Given the description of an element on the screen output the (x, y) to click on. 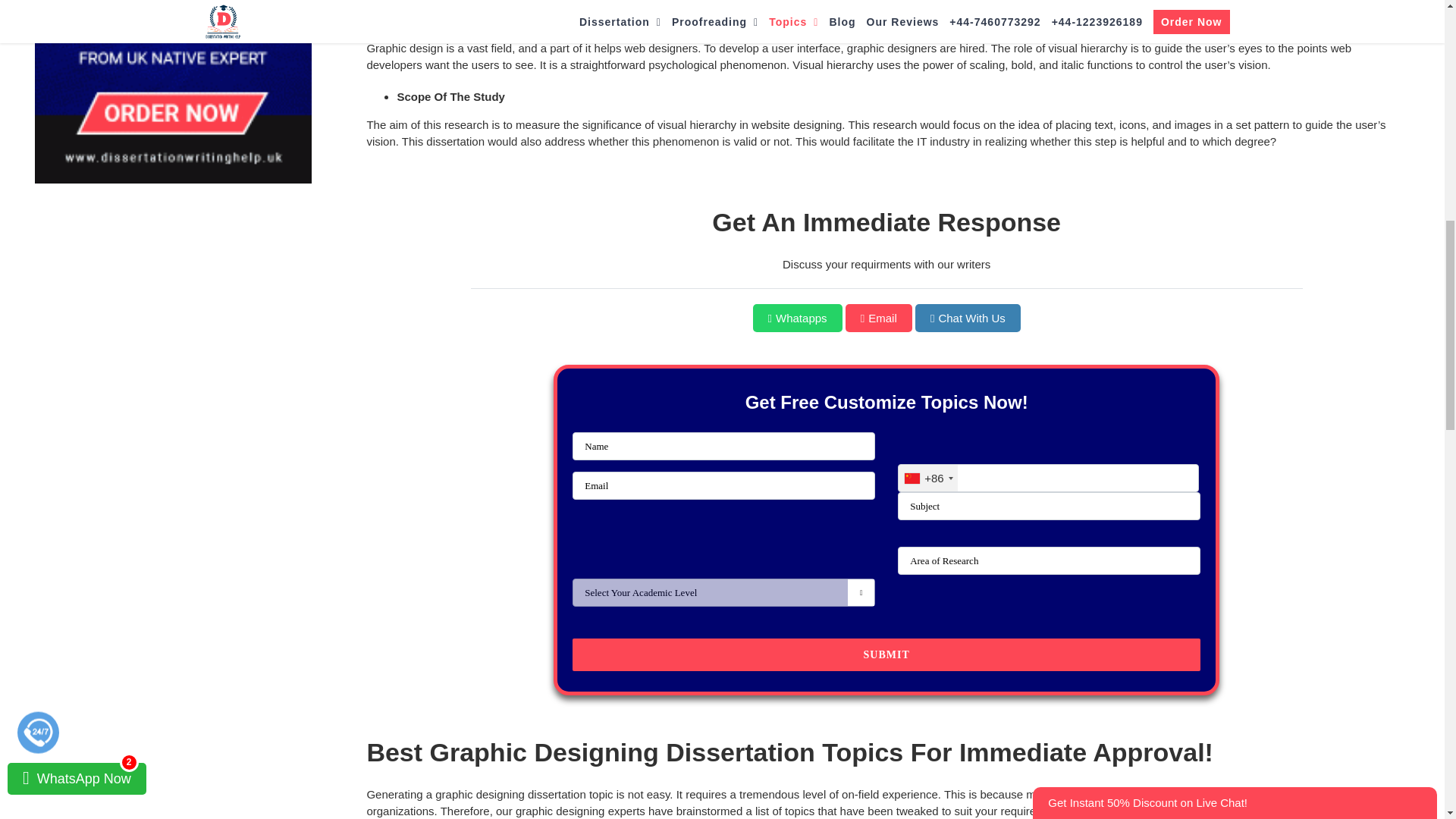
Submit (885, 654)
